Given the description of an element on the screen output the (x, y) to click on. 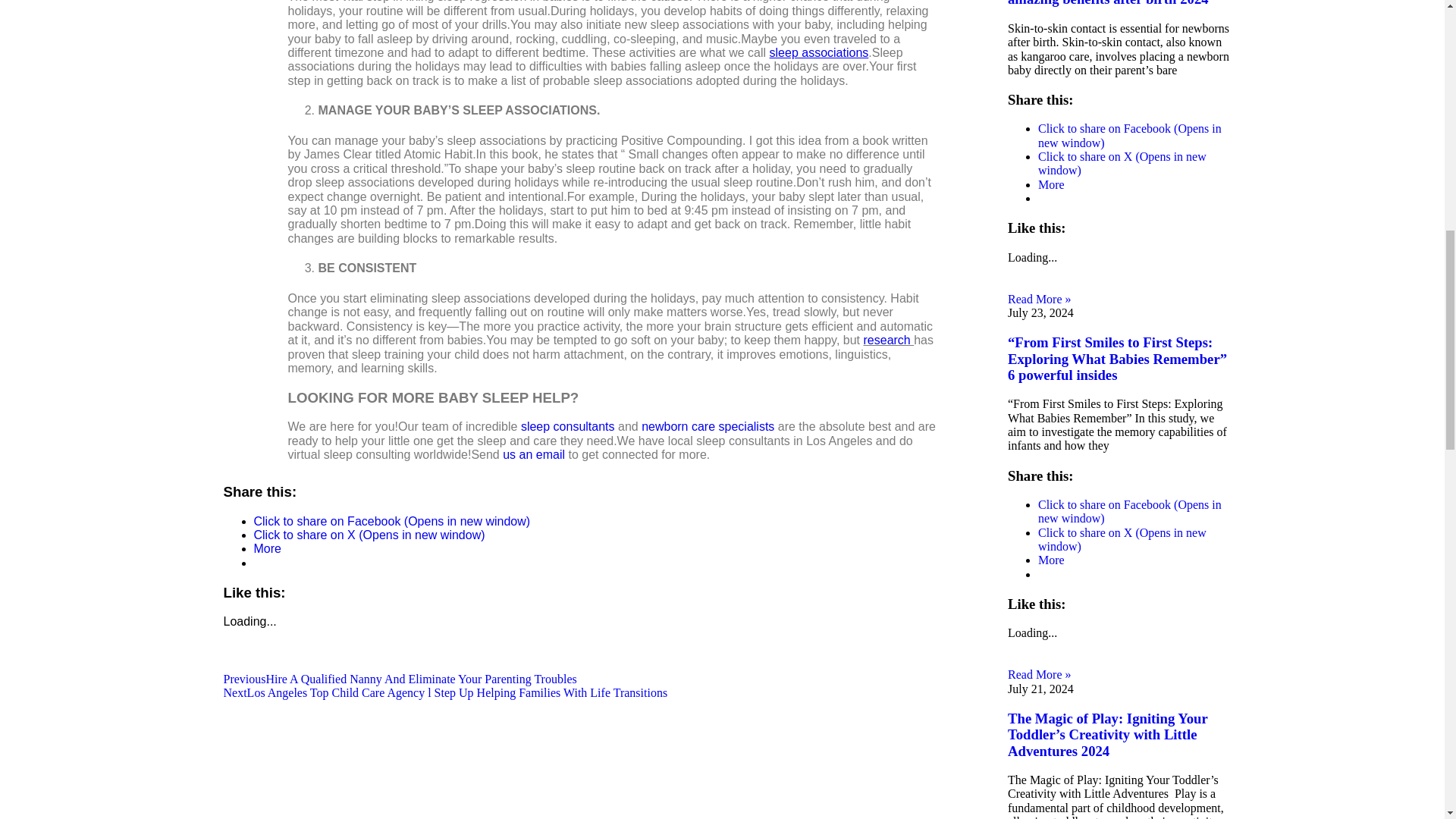
Click to share on X (368, 534)
Click to share on X (1122, 162)
Click to share on Facebook (391, 521)
Click to share on Facebook (1129, 510)
Click to share on Facebook (1129, 135)
